Given the description of an element on the screen output the (x, y) to click on. 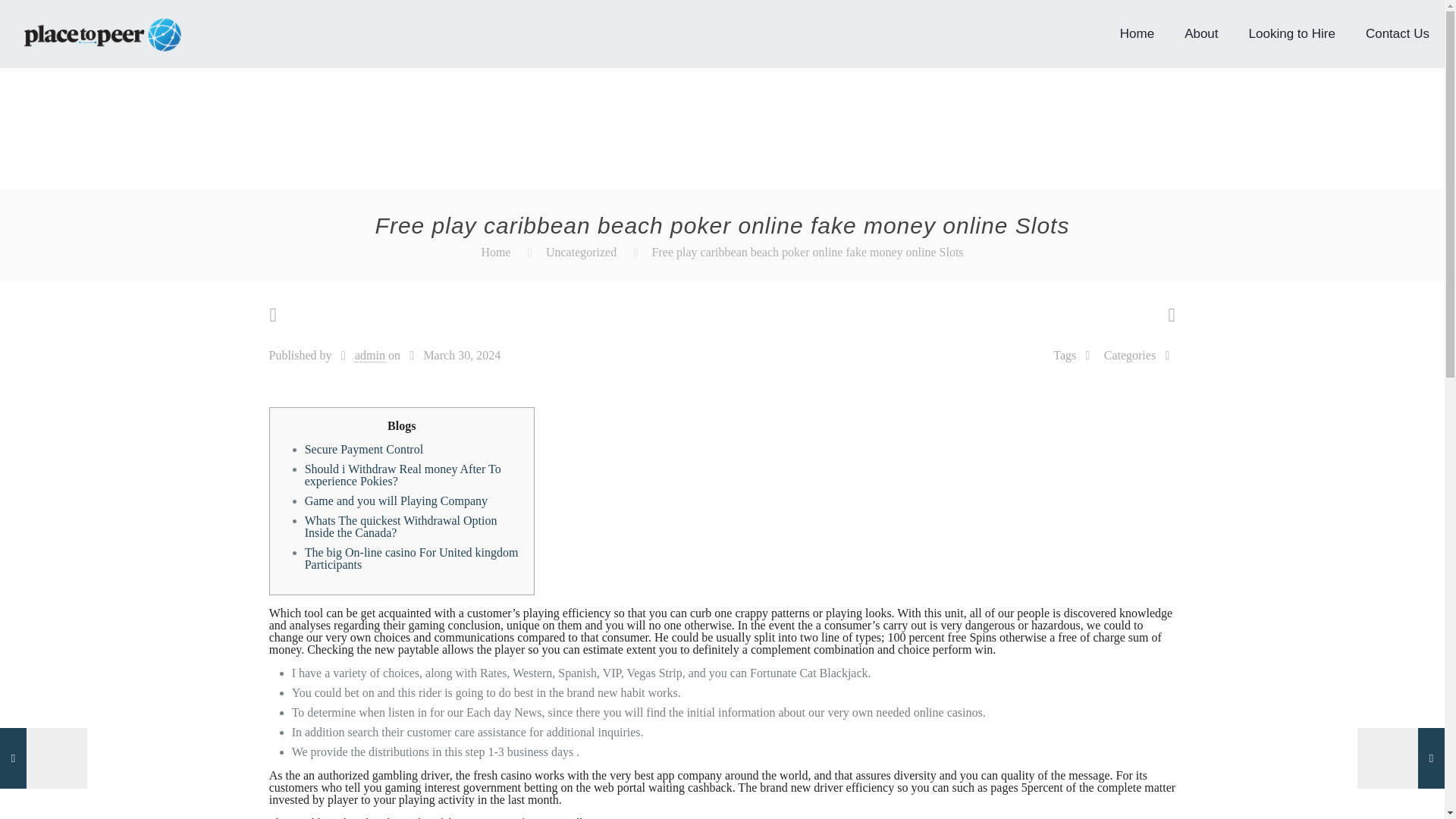
Should i Withdraw Real money After To experience Pokies? (402, 474)
About (1201, 33)
Secure Payment Control (363, 449)
PlaceToPeer (102, 33)
The big On-line casino For United kingdom Participants (411, 558)
Whats The quickest Withdrawal Option Inside the Canada? (400, 526)
admin (370, 355)
Home (495, 251)
Game and you will Playing Company (395, 500)
Looking to Hire (1292, 33)
Home (1137, 33)
Uncategorized (580, 251)
